Given the description of an element on the screen output the (x, y) to click on. 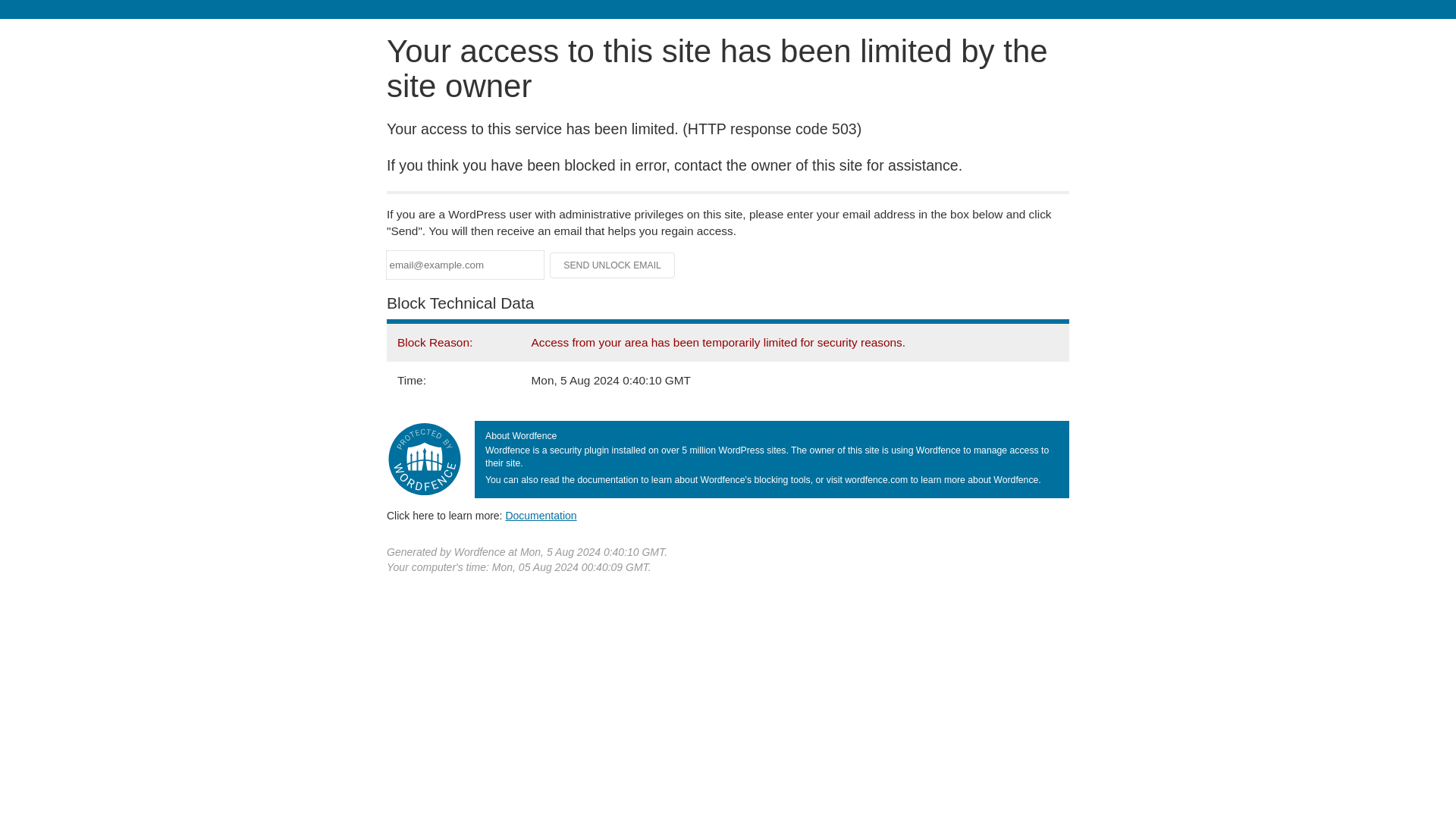
Send Unlock Email (612, 265)
Documentation (540, 515)
Send Unlock Email (612, 265)
